Given the description of an element on the screen output the (x, y) to click on. 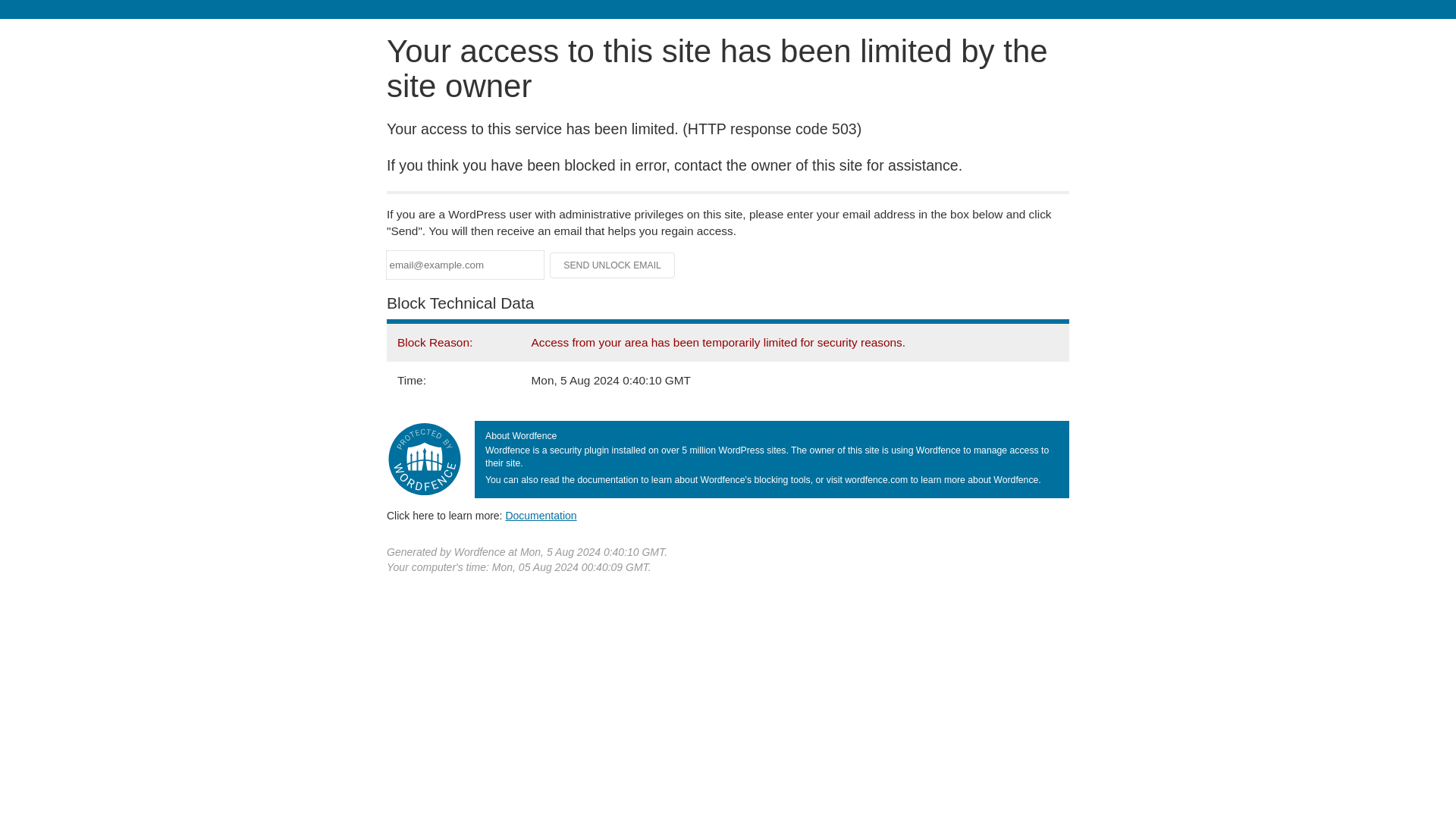
Send Unlock Email (612, 265)
Documentation (540, 515)
Send Unlock Email (612, 265)
